Given the description of an element on the screen output the (x, y) to click on. 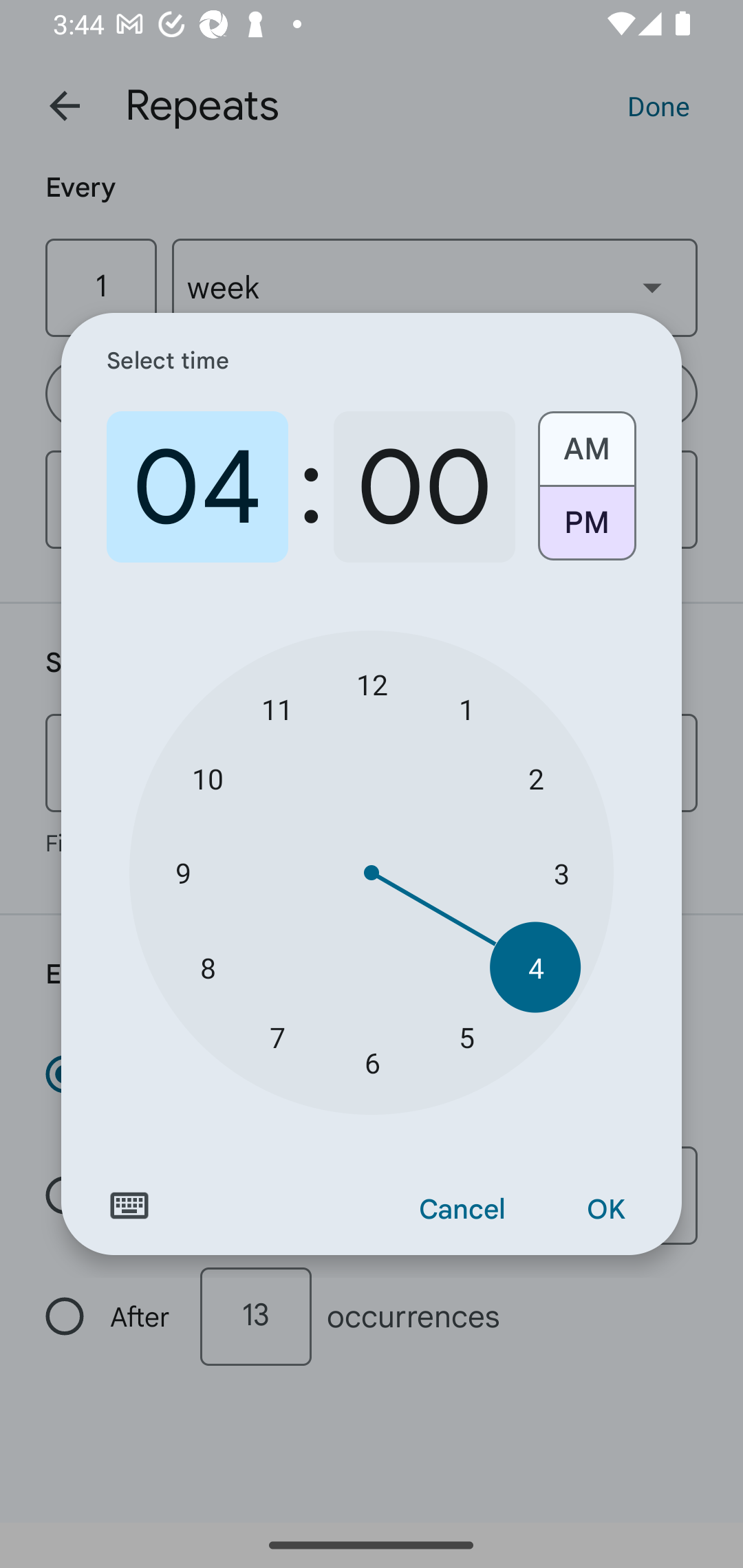
AM (586, 441)
04 4 o'clock (197, 486)
00 0 minutes (424, 486)
PM (586, 529)
12 12 o'clock (371, 683)
11 11 o'clock (276, 708)
1 1 o'clock (466, 708)
10 10 o'clock (207, 778)
2 2 o'clock (535, 778)
9 9 o'clock (182, 872)
3 3 o'clock (561, 872)
8 8 o'clock (207, 966)
4 4 o'clock (535, 966)
7 7 o'clock (276, 1035)
5 5 o'clock (466, 1035)
6 6 o'clock (371, 1062)
Switch to text input mode for the time input. (128, 1205)
Cancel (462, 1209)
OK (605, 1209)
